Given the description of an element on the screen output the (x, y) to click on. 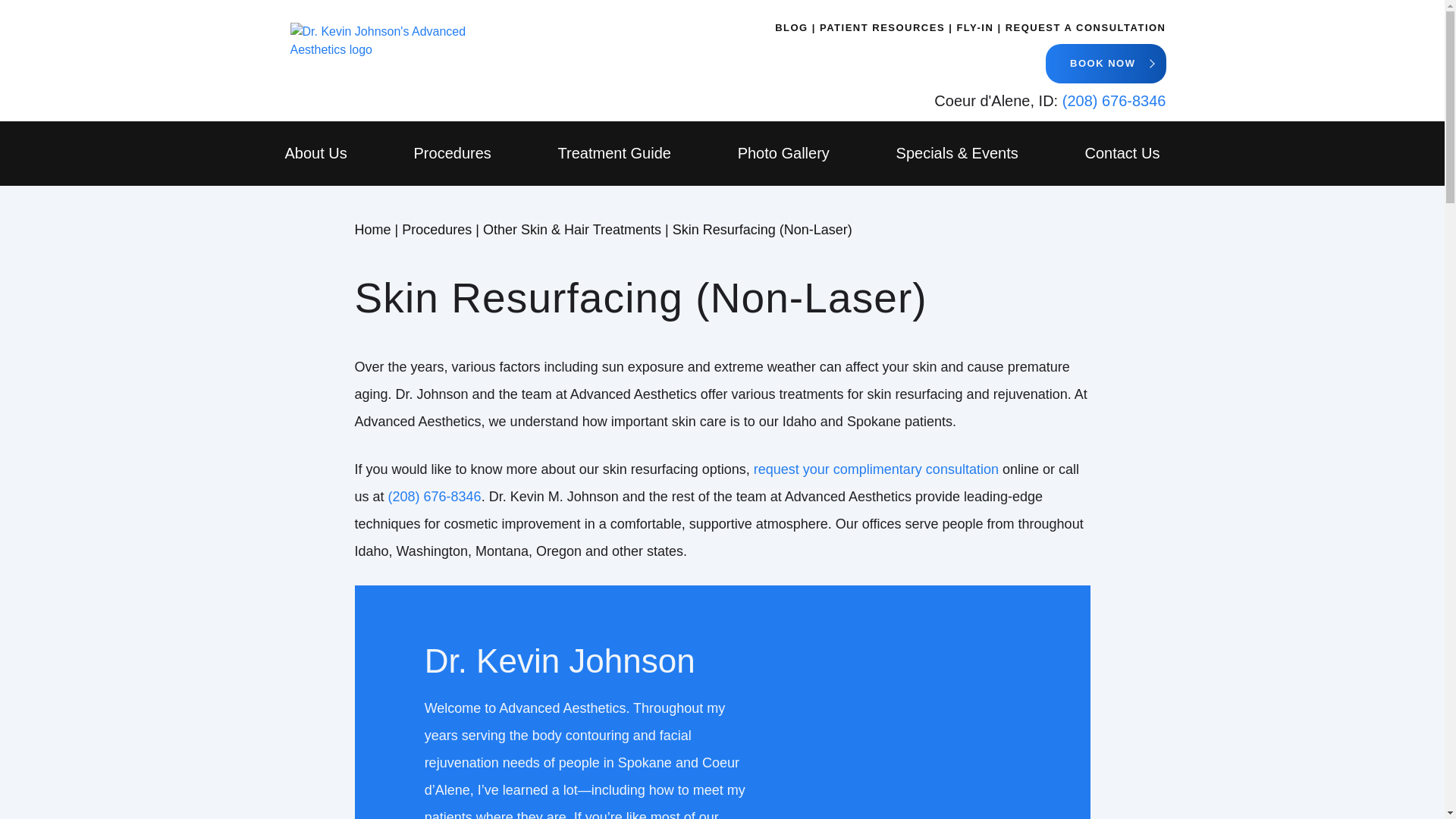
Procedures (452, 153)
About Us (316, 153)
BLOG (794, 28)
FLY-IN (978, 28)
REQUEST A CONSULTATION (1086, 28)
BOOK NOW (1105, 63)
PATIENT RESOURCES (885, 28)
